Given the description of an element on the screen output the (x, y) to click on. 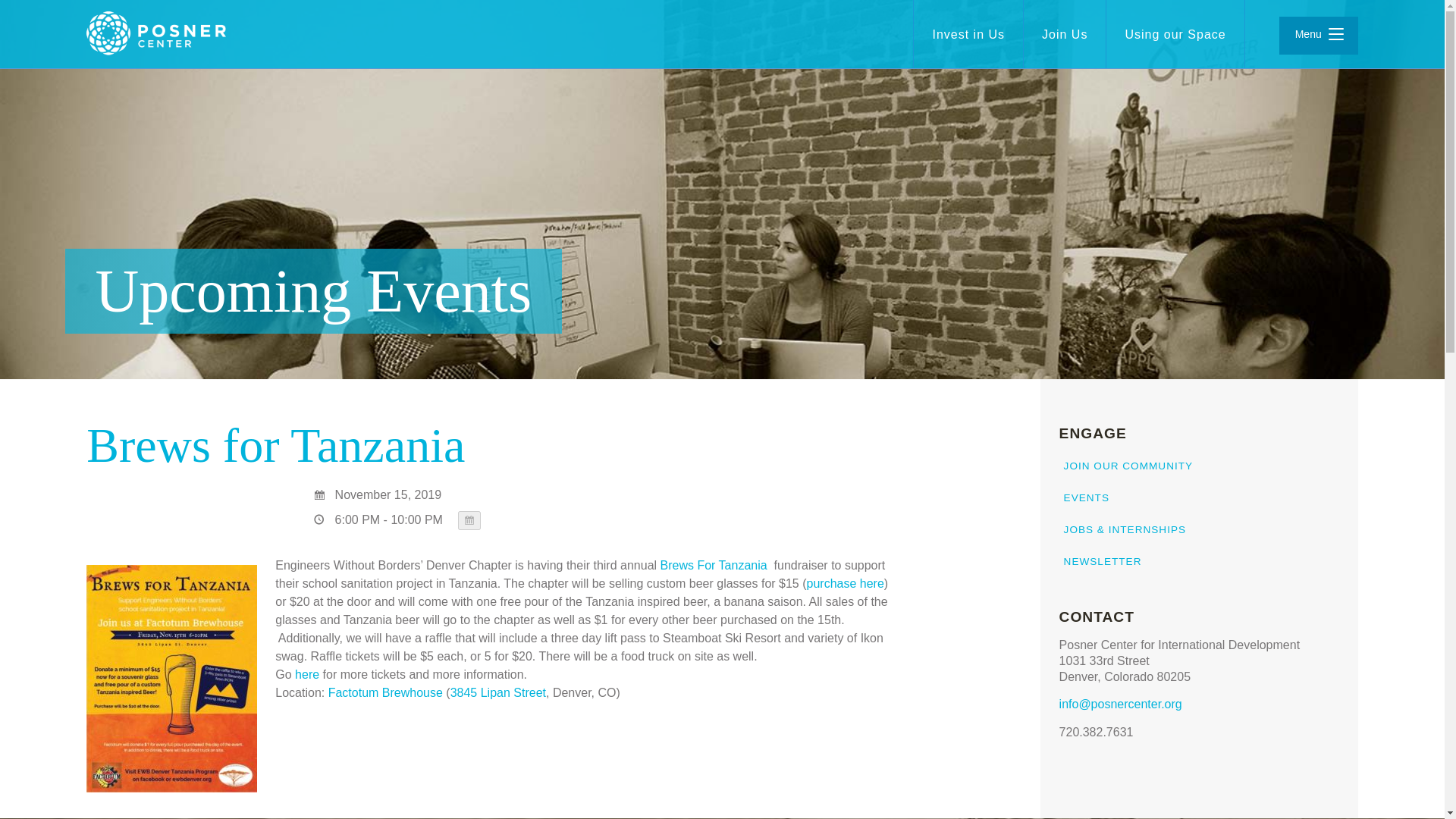
Join Us (1064, 34)
Using our Space (1174, 34)
Add to iCal Calendar (469, 520)
Menu (1318, 35)
Invest in Us (968, 34)
